Given the description of an element on the screen output the (x, y) to click on. 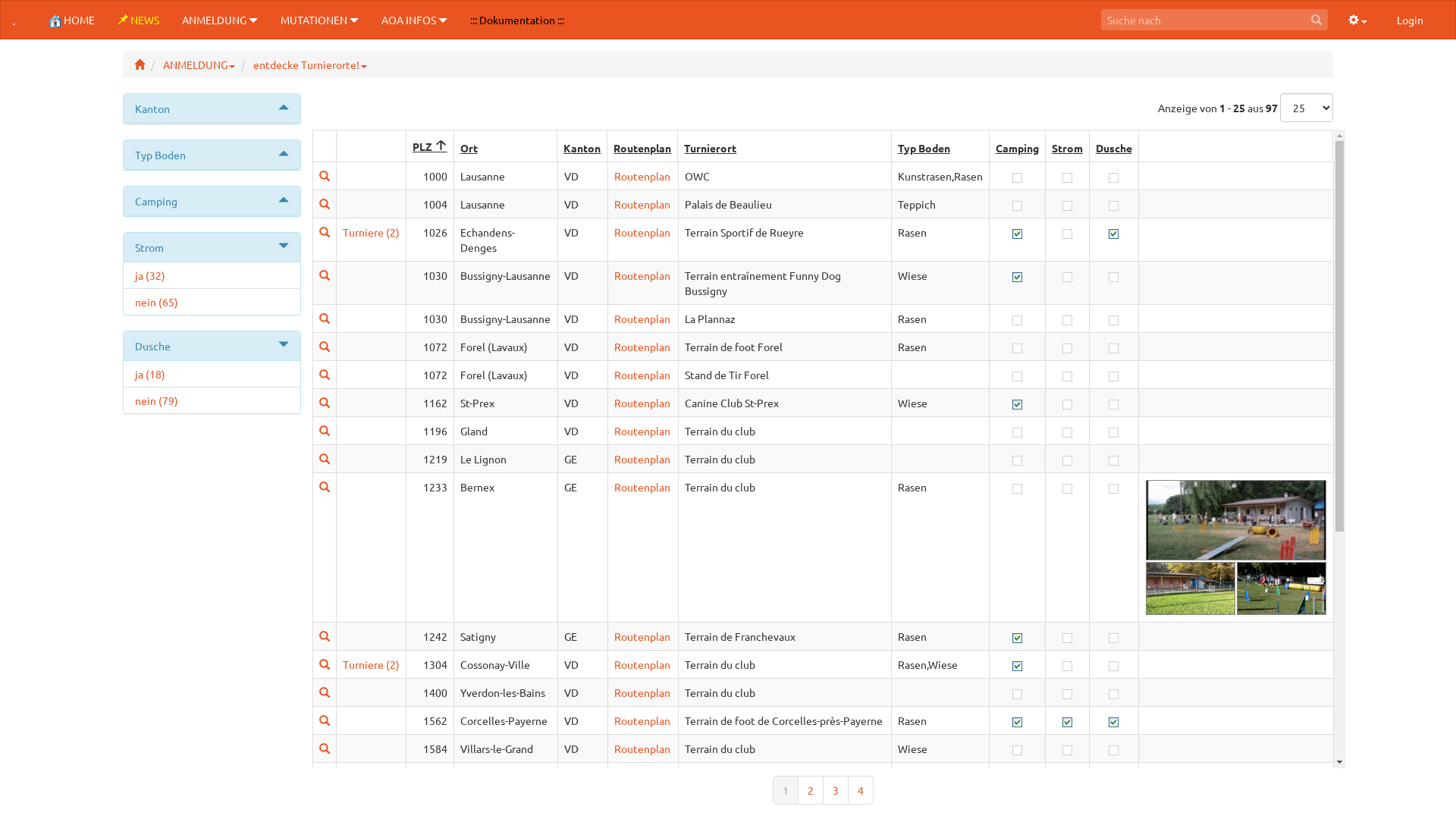
NEWS Element type: text (138, 19)
Routenplan Element type: text (642, 318)
Suchen Element type: hover (1316, 19)
Routenplan Element type: text (642, 374)
Turniere (2) Element type: text (370, 664)
Routenplan Element type: text (642, 231)
Routenplan Element type: text (642, 804)
Datensatzanzeige Element type: hover (324, 486)
Datensatzanzeige Element type: hover (324, 804)
Routenplan Element type: text (642, 692)
Datensatzanzeige Element type: hover (324, 663)
Turniere (2) Element type: text (370, 231)
Datensatzanzeige Element type: hover (324, 458)
Datensatzanzeige Element type: hover (324, 175)
Routenplan Element type: text (642, 346)
Datensatzanzeige Element type: hover (324, 374)
AOA INFOS Element type: text (414, 19)
4 Element type: text (860, 789)
Routenplan Element type: text (642, 776)
Routenplan Element type: text (642, 430)
Routenplan Element type: text (642, 664)
Datensatzanzeige Element type: hover (324, 346)
Routenplan Element type: text (642, 458)
Datensatzanzeige Element type: hover (324, 776)
Routenplan Element type: text (642, 175)
Datensatzanzeige Element type: hover (324, 203)
Datensatzanzeige Element type: hover (324, 231)
entdecke Turnierorte! Element type: text (310, 64)
Login Element type: text (1409, 19)
ANMELDUNG Element type: text (199, 64)
Datensatzanzeige Element type: hover (324, 692)
. Element type: text (13, 19)
ja (32) Element type: text (211, 275)
Routenplan Element type: text (642, 636)
Routenplan Element type: text (642, 748)
Datensatzanzeige Element type: hover (324, 274)
Routenplan Element type: text (642, 486)
::: Dokumentation ::: Element type: text (516, 19)
2 Element type: text (810, 789)
HOME Element type: text (71, 19)
ANMELDUNG Element type: text (219, 19)
Datensatzanzeige Element type: hover (324, 402)
ja (18) Element type: text (211, 373)
Datensatzanzeige Element type: hover (324, 748)
Routenplan Element type: text (642, 720)
Routenplan Element type: text (642, 402)
nein (79) Element type: text (211, 400)
Datensatzanzeige Element type: hover (324, 635)
Routenplan Element type: text (642, 203)
1 Element type: text (784, 789)
Datensatzanzeige Element type: hover (324, 430)
MUTATIONEN Element type: text (319, 19)
nein (65) Element type: text (211, 301)
Routenplan Element type: text (642, 275)
3 Element type: text (834, 789)
Datensatzanzeige Element type: hover (324, 318)
Datensatzanzeige Element type: hover (324, 720)
